Given the description of an element on the screen output the (x, y) to click on. 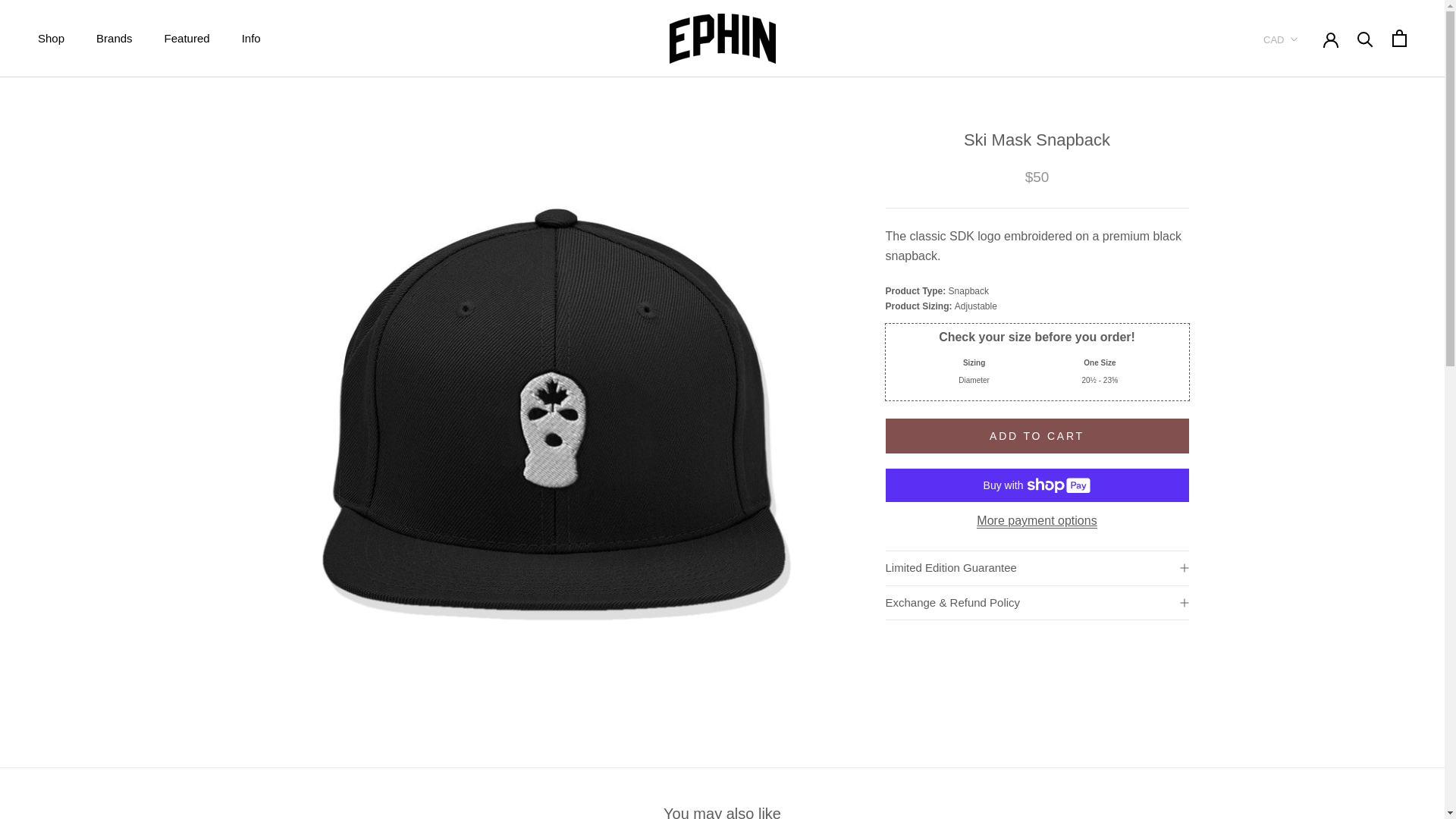
Currency selector (1280, 39)
Shop (50, 38)
